Given the description of an element on the screen output the (x, y) to click on. 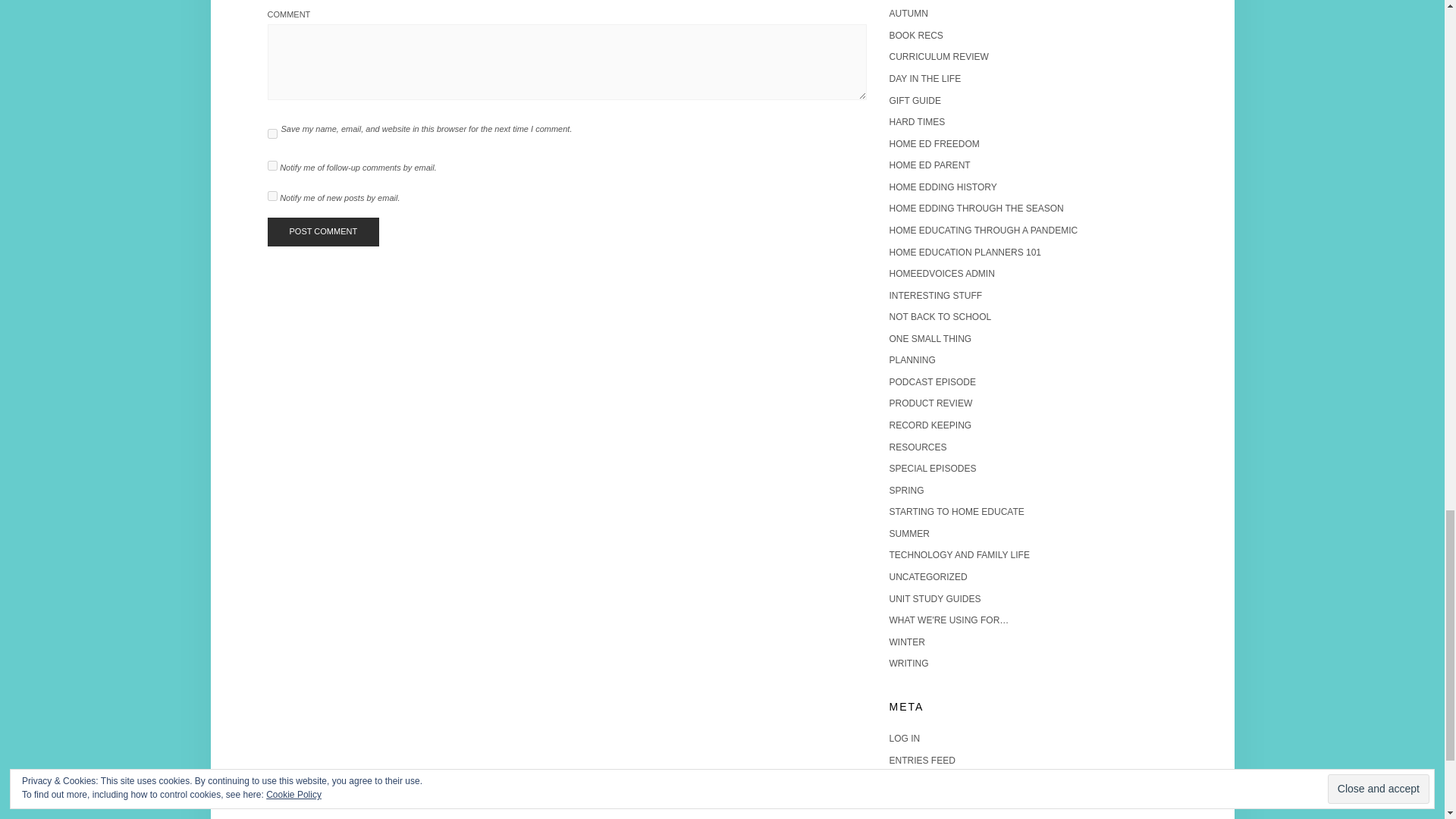
subscribe (271, 195)
yes (271, 133)
subscribe (271, 165)
Post Comment (322, 231)
